Given the description of an element on the screen output the (x, y) to click on. 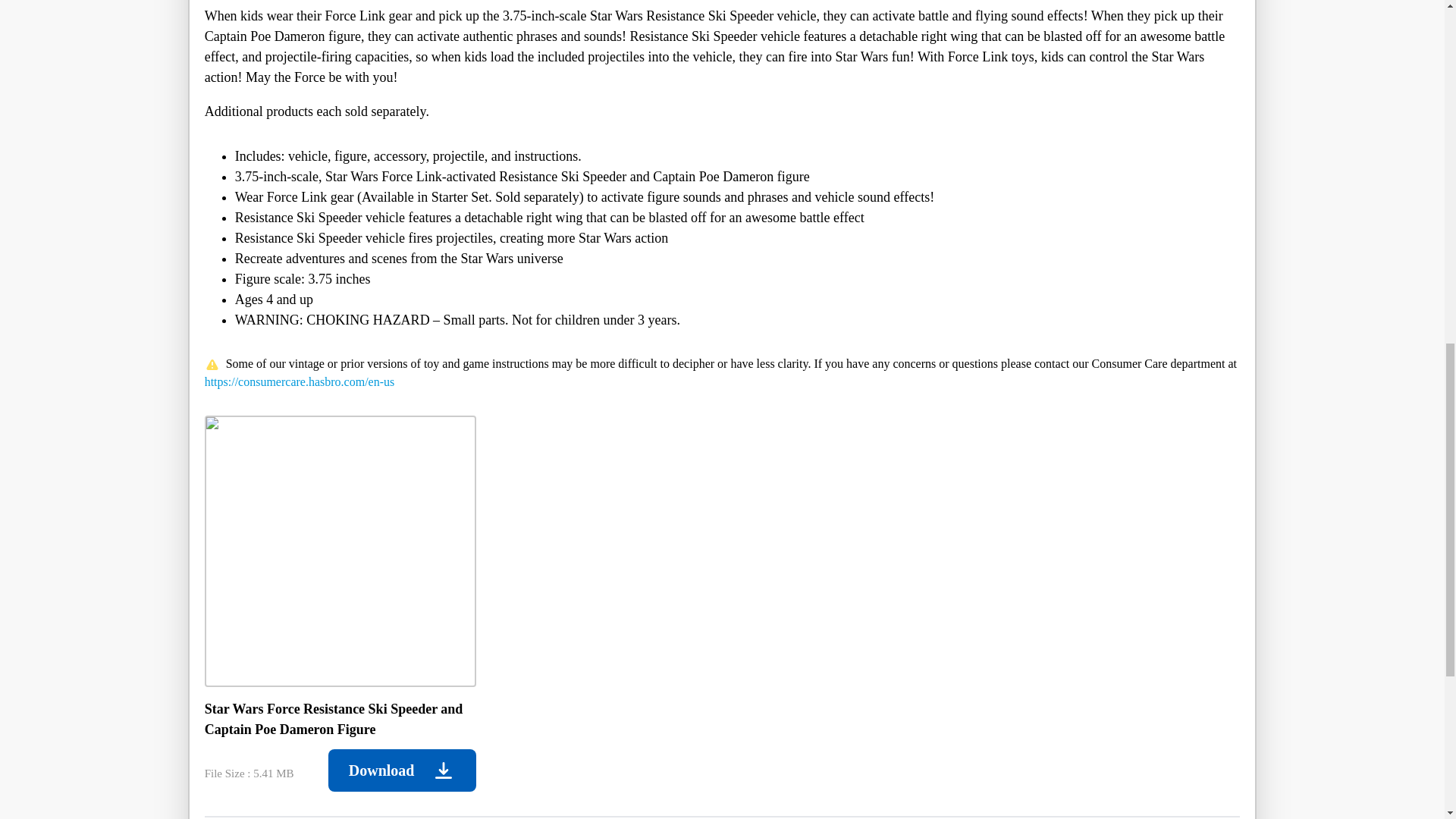
Download (402, 770)
